Given the description of an element on the screen output the (x, y) to click on. 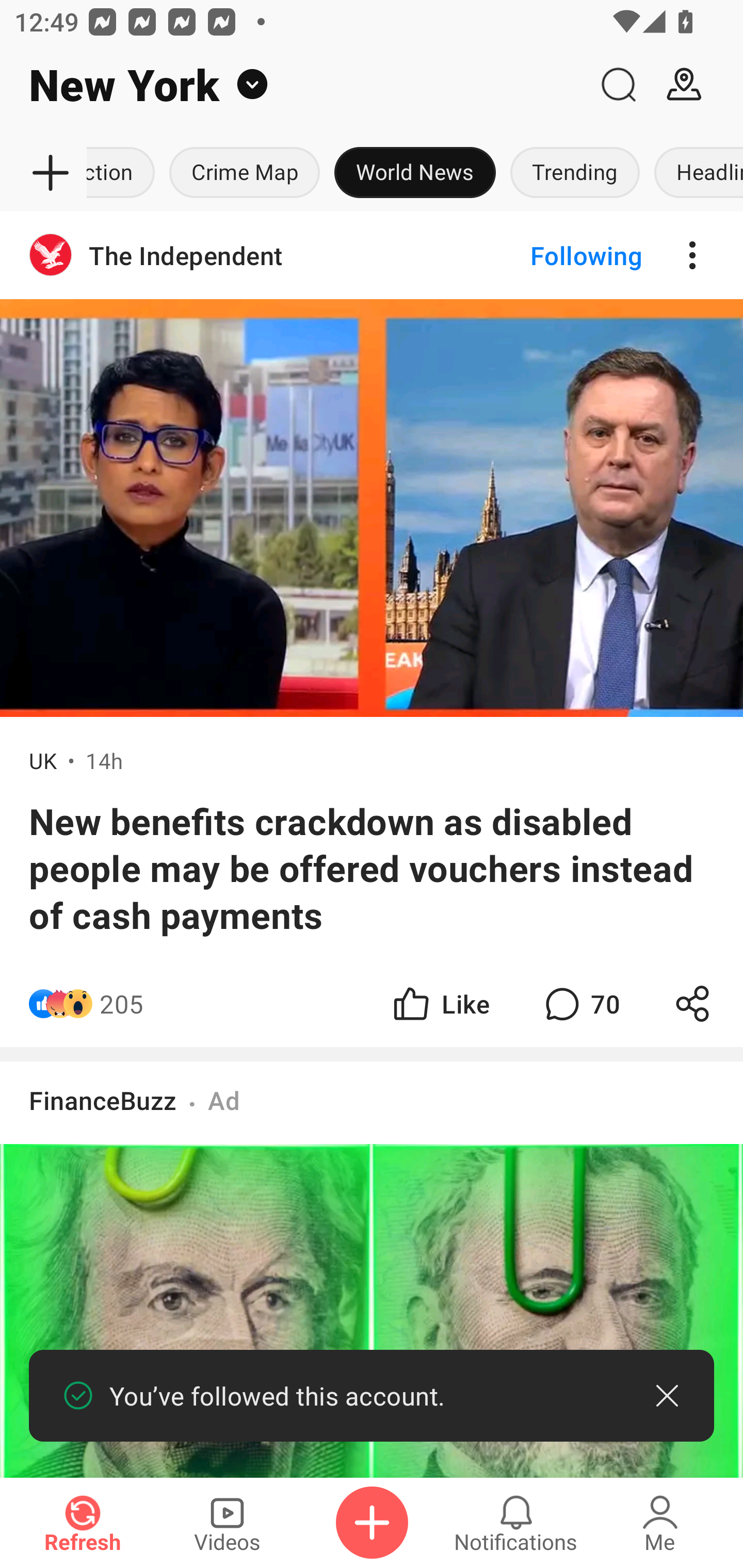
New York (292, 84)
Election (123, 172)
Crime Map (243, 172)
World News (414, 172)
Trending (575, 172)
Headlines (695, 172)
The Independent Following (371, 255)
Following (569, 255)
205 (121, 1003)
Like (439, 1003)
70 (579, 1003)
FinanceBuzz (102, 1099)
Videos (227, 1522)
Notifications (516, 1522)
Me (659, 1522)
